Given the description of an element on the screen output the (x, y) to click on. 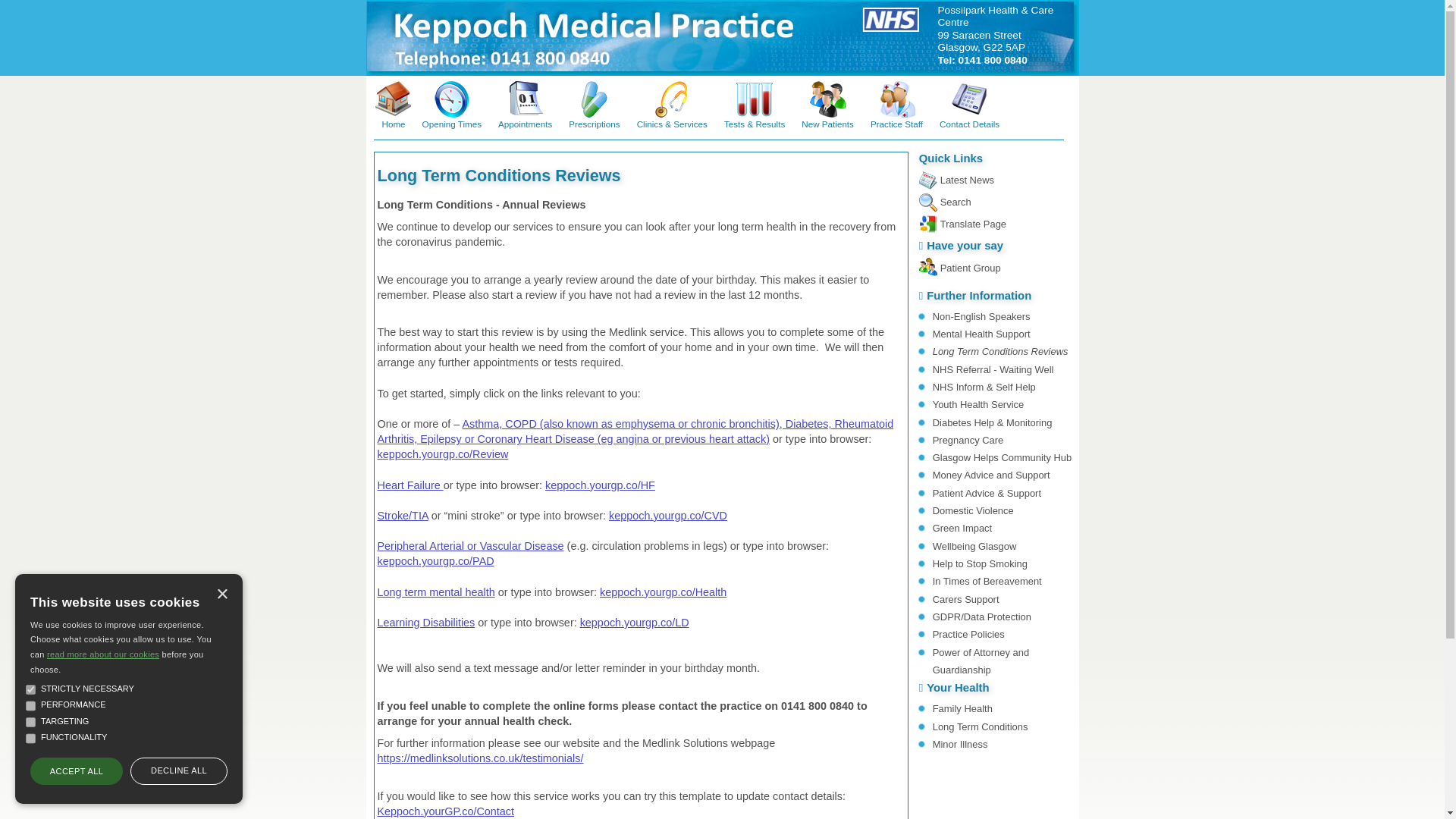
Prescriptions (593, 102)
Search the site (955, 202)
ACCEPT ALL (76, 770)
strict (30, 689)
DECLINE ALL (179, 770)
Patient Group (970, 267)
Appointments (525, 102)
read more about our cookies (102, 654)
The latest news (967, 179)
performance (30, 706)
Full contact details (994, 35)
